Given the description of an element on the screen output the (x, y) to click on. 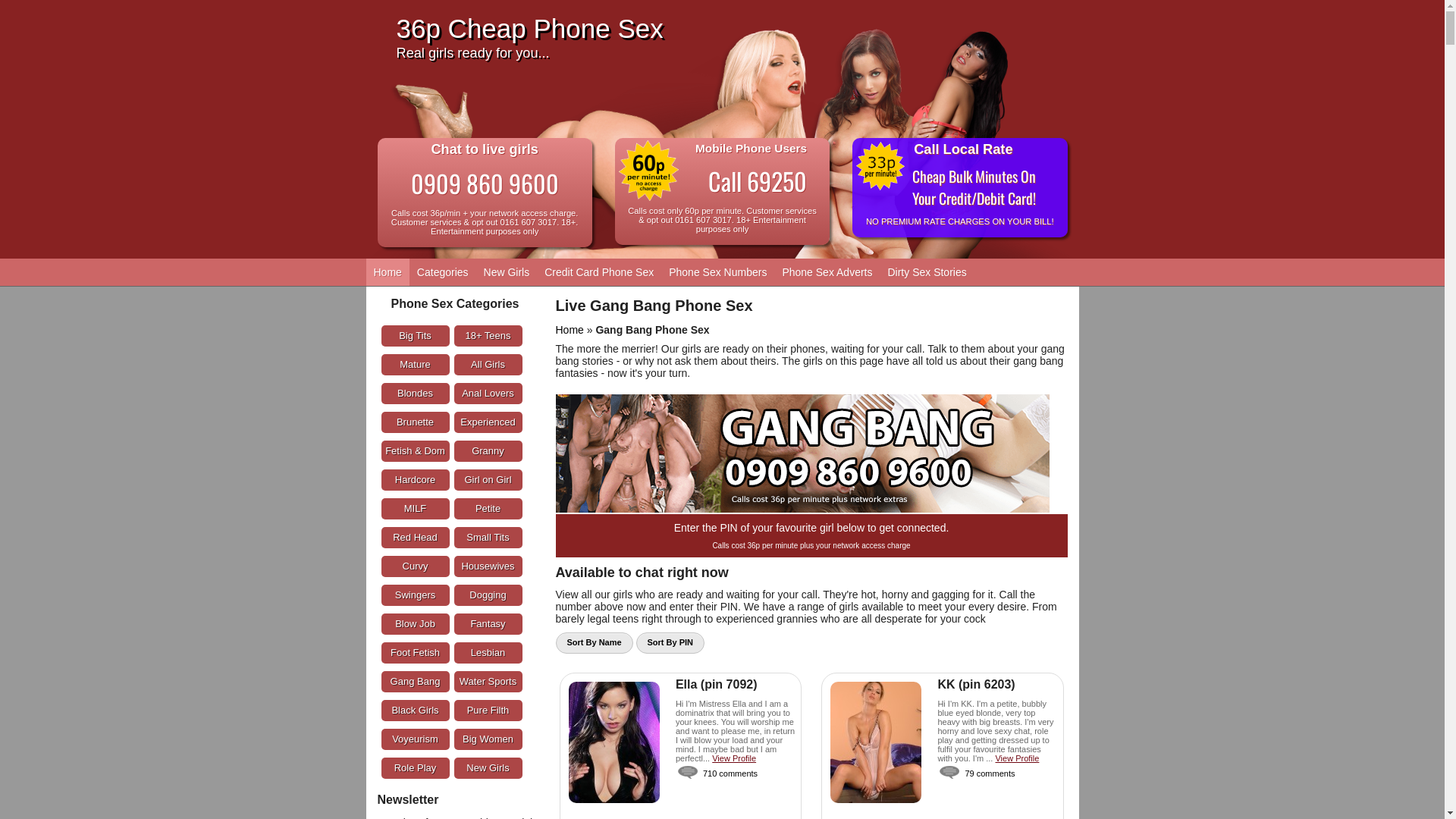
Gang Bang Element type: text (414, 681)
Credit Card Phone Sex Element type: text (598, 271)
Phone Sex Adverts Element type: text (826, 271)
Black Girls Element type: text (414, 710)
Water Sports Element type: text (487, 681)
Categories Element type: text (442, 271)
Petite Element type: text (487, 508)
Brunette Element type: text (414, 422)
Foot Fetish Element type: text (414, 652)
Dirty Sex Stories Element type: text (926, 271)
Hardcore Element type: text (414, 479)
Fantasy Element type: text (487, 623)
Anal Lovers Element type: text (487, 393)
Fetish & Dom Element type: text (414, 450)
MILF Element type: text (414, 508)
All Girls Element type: text (487, 364)
Sort By PIN Element type: text (670, 642)
Home Element type: text (569, 329)
Dogging Element type: text (487, 594)
Home Element type: text (386, 271)
New Girls Element type: text (506, 271)
Pure Filth Element type: text (487, 710)
Big Women Element type: text (487, 738)
Sort By Name Element type: text (593, 642)
Voyeurism Element type: text (414, 738)
Big Tits Element type: text (414, 335)
View Profile Element type: text (1016, 757)
Phone Sex Numbers Element type: text (717, 271)
Mature Element type: text (414, 364)
Small Tits Element type: text (487, 537)
18+ Teens Element type: text (487, 335)
Red Head Element type: text (414, 537)
View Profile Element type: text (734, 757)
Housewives Element type: text (487, 566)
Granny Element type: text (487, 450)
Lesbian Element type: text (487, 652)
Blondes Element type: text (414, 393)
New Girls Element type: text (487, 767)
Role Play Element type: text (414, 767)
Experienced Element type: text (487, 422)
Swingers Element type: text (414, 594)
36p Cheap Phone Sex
Real girls ready for you... Element type: text (740, 39)
Girl on Girl Element type: text (487, 479)
Blow Job Element type: text (414, 623)
Curvy Element type: text (414, 566)
